Given the description of an element on the screen output the (x, y) to click on. 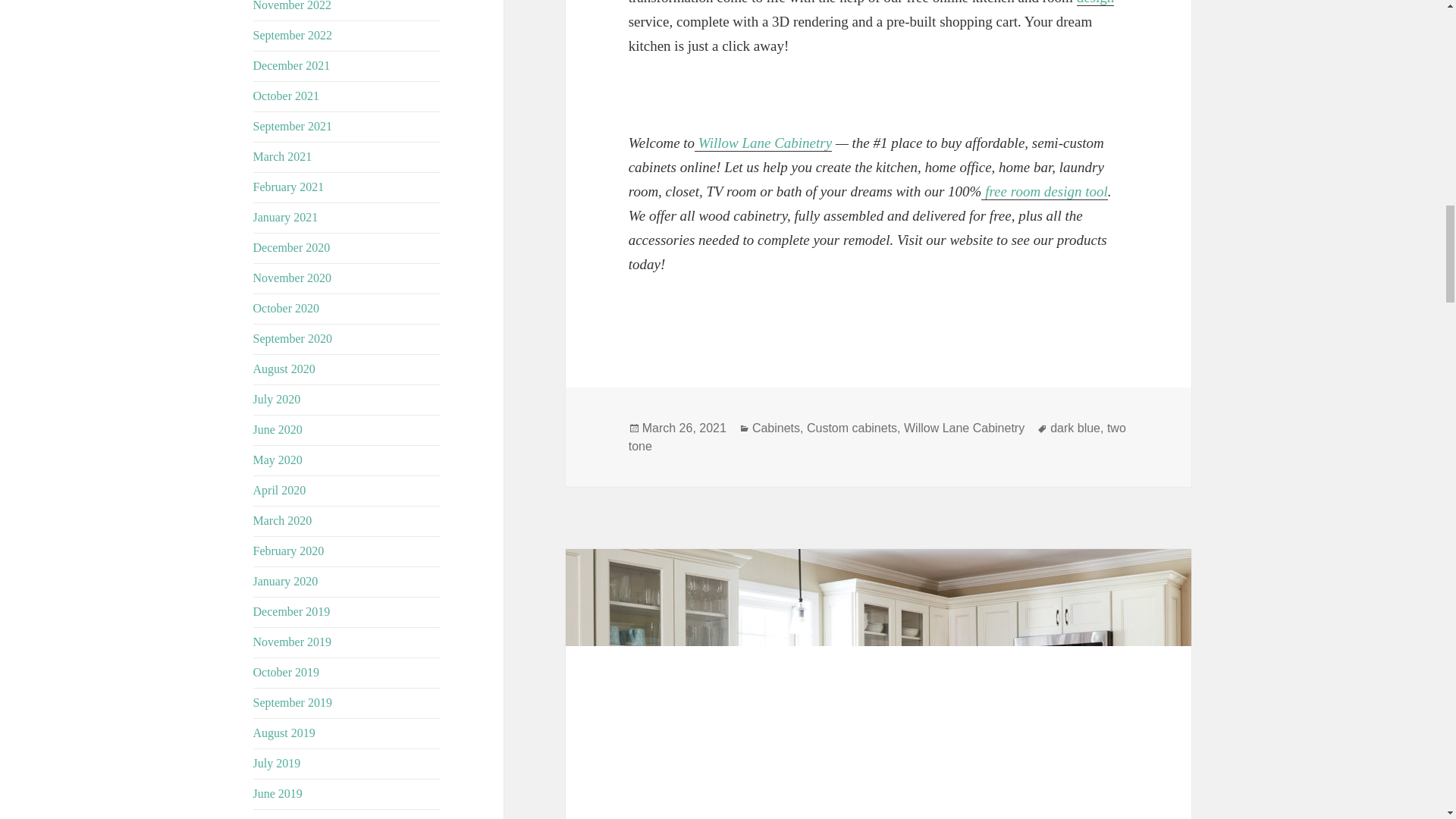
December 2021 (291, 65)
September 2021 (292, 125)
October 2021 (286, 95)
September 2022 (292, 34)
February 2021 (288, 186)
March 2021 (283, 155)
November 2022 (292, 5)
January 2021 (285, 216)
